Given the description of an element on the screen output the (x, y) to click on. 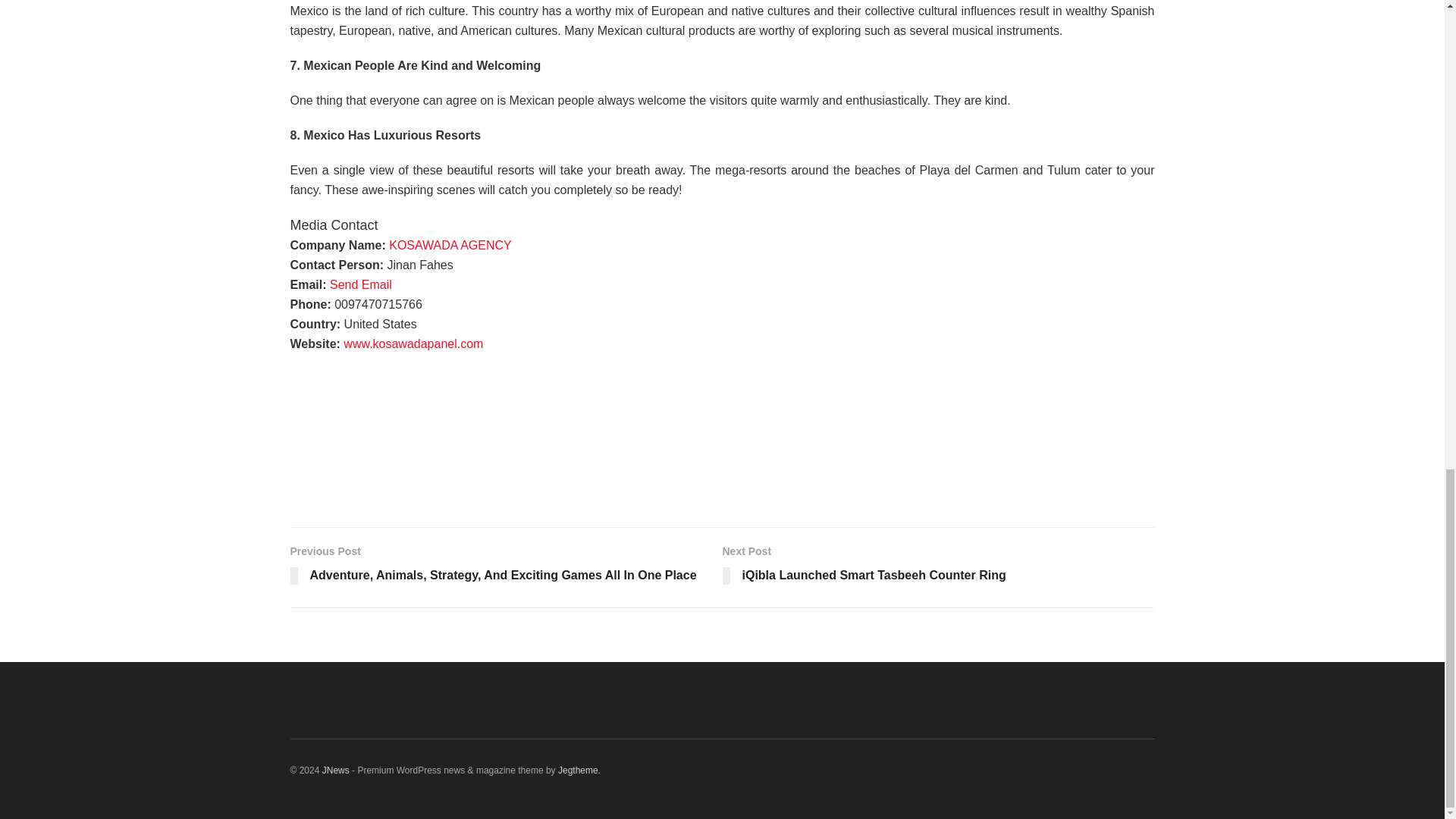
Jegtheme (938, 567)
Jegtheme (577, 769)
Send Email (577, 769)
KOSAWADA AGENCY (360, 284)
JNews (450, 245)
www.kosawadapanel.com (335, 769)
